Given the description of an element on the screen output the (x, y) to click on. 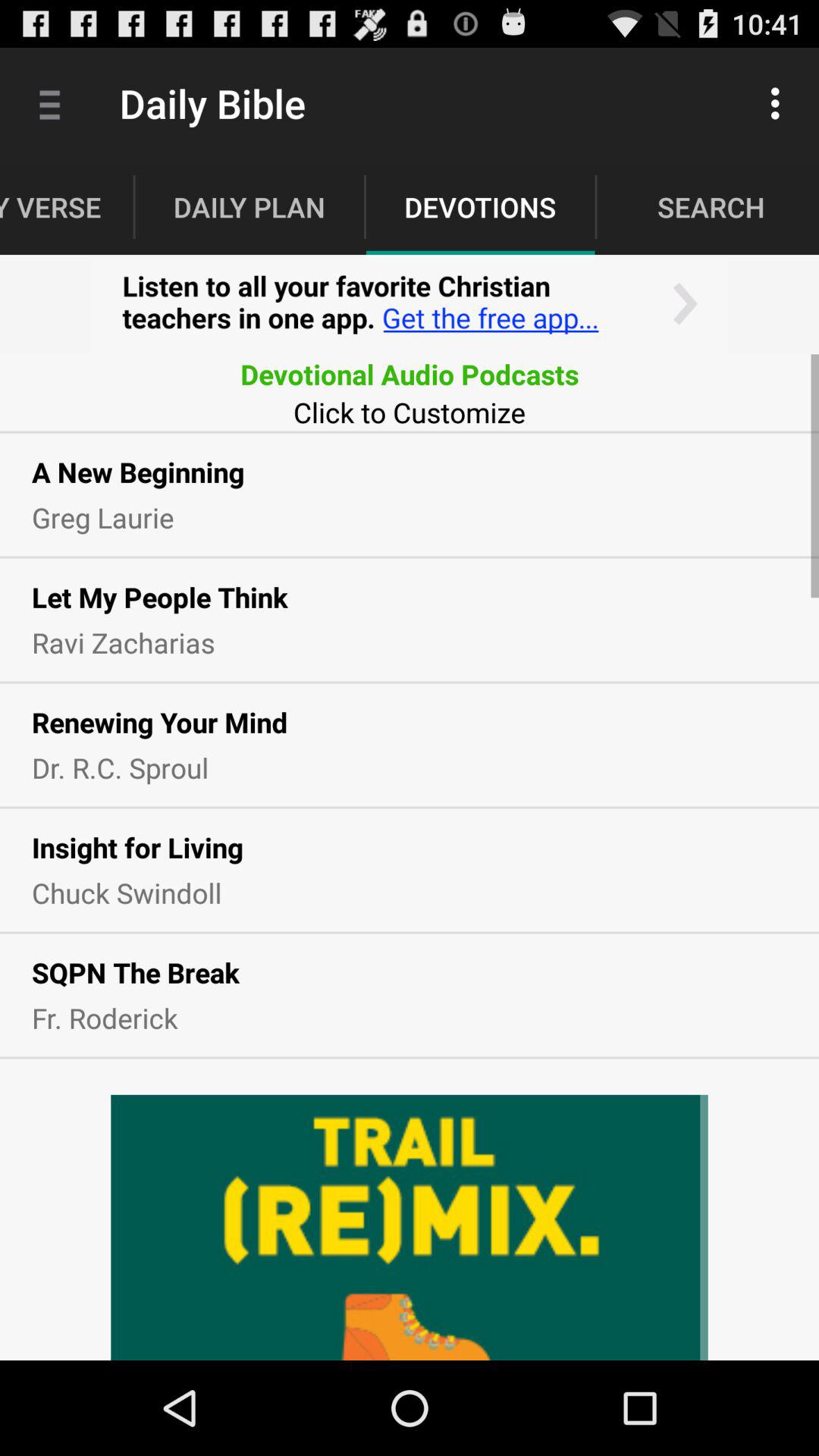
click on the icon top right corner (779, 103)
select the option daily plan which is below the daily bible (249, 206)
